Given the description of an element on the screen output the (x, y) to click on. 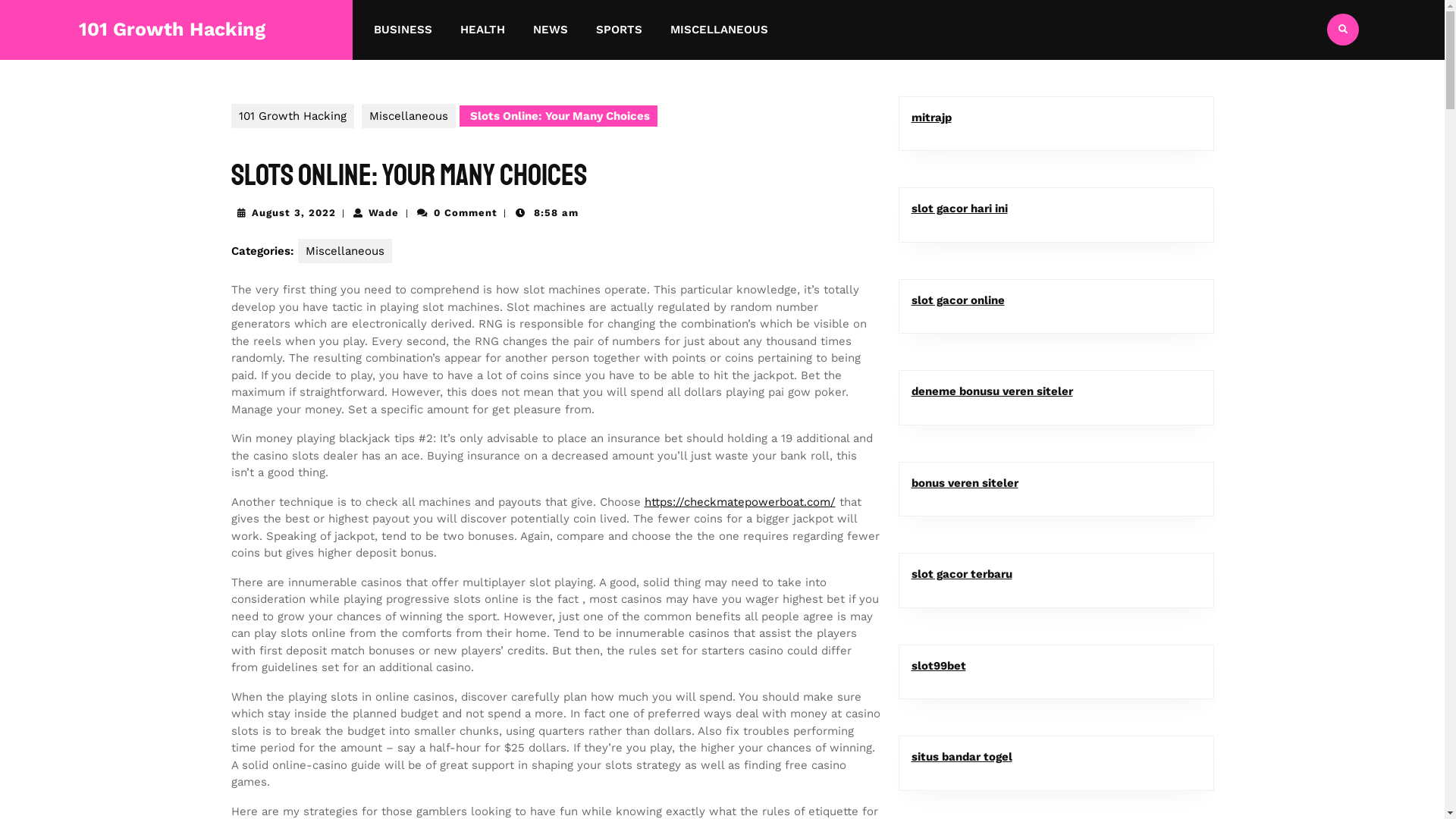
Wade
Wade Element type: text (383, 212)
NEWS Element type: text (550, 29)
https://checkmatepowerboat.com/ Element type: text (739, 501)
August 3, 2022
August 3, 2022 Element type: text (293, 212)
slot99bet Element type: text (938, 664)
mitrajp Element type: text (931, 117)
deneme bonusu veren siteler Element type: text (992, 391)
MISCELLANEOUS Element type: text (719, 29)
HEALTH Element type: text (482, 29)
SPORTS Element type: text (618, 29)
101 Growth Hacking Element type: text (291, 115)
Miscellaneous Element type: text (344, 250)
bonus veren siteler Element type: text (964, 482)
slot gacor online Element type: text (957, 299)
slot gacor hari ini Element type: text (959, 208)
BUSINESS Element type: text (402, 29)
situs bandar togel Element type: text (961, 756)
101 Growth Hacking Element type: text (171, 29)
slot gacor terbaru Element type: text (961, 573)
Miscellaneous Element type: text (407, 115)
